Given the description of an element on the screen output the (x, y) to click on. 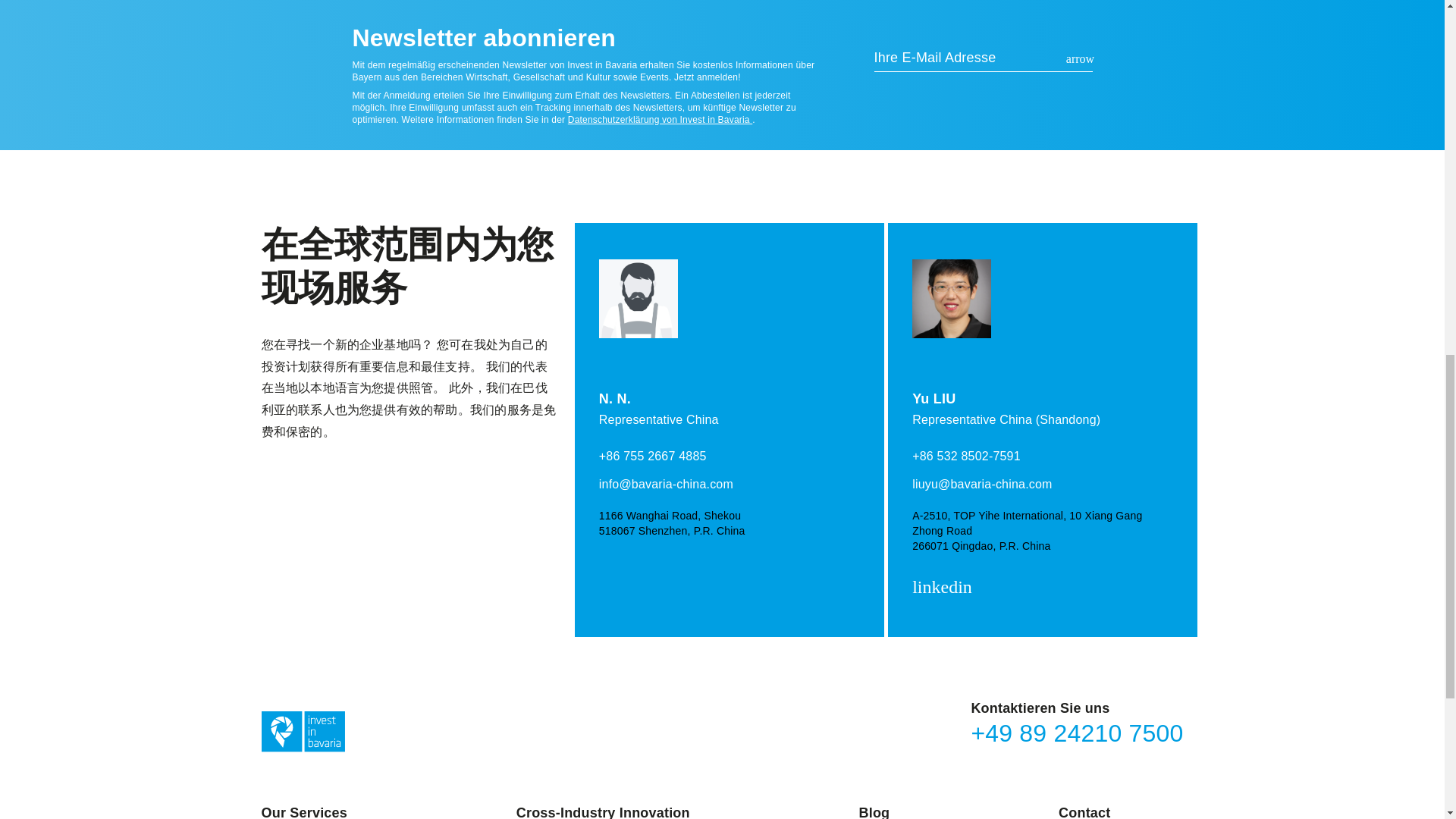
linkedin (945, 588)
Cross-Industry Innovation (603, 810)
arrow (1079, 58)
Blog (874, 810)
Our Services (303, 810)
